Given the description of an element on the screen output the (x, y) to click on. 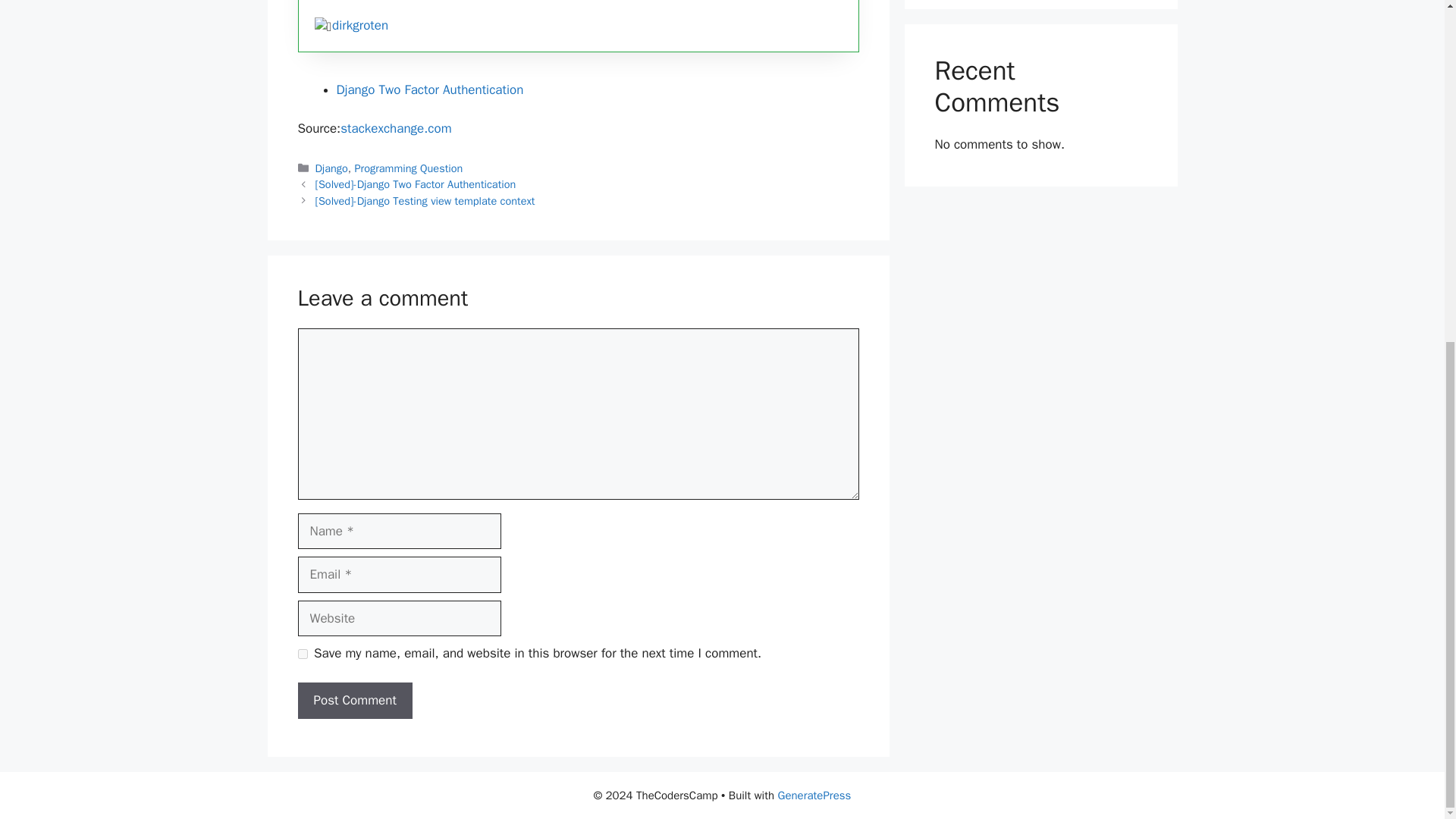
Django (331, 168)
GeneratePress (814, 795)
stackexchange.com (395, 128)
Post Comment (354, 700)
Programming Question (409, 168)
yes (302, 654)
Post Comment (354, 700)
Django Two Factor Authentication (430, 89)
dirkgroten (359, 25)
